Given the description of an element on the screen output the (x, y) to click on. 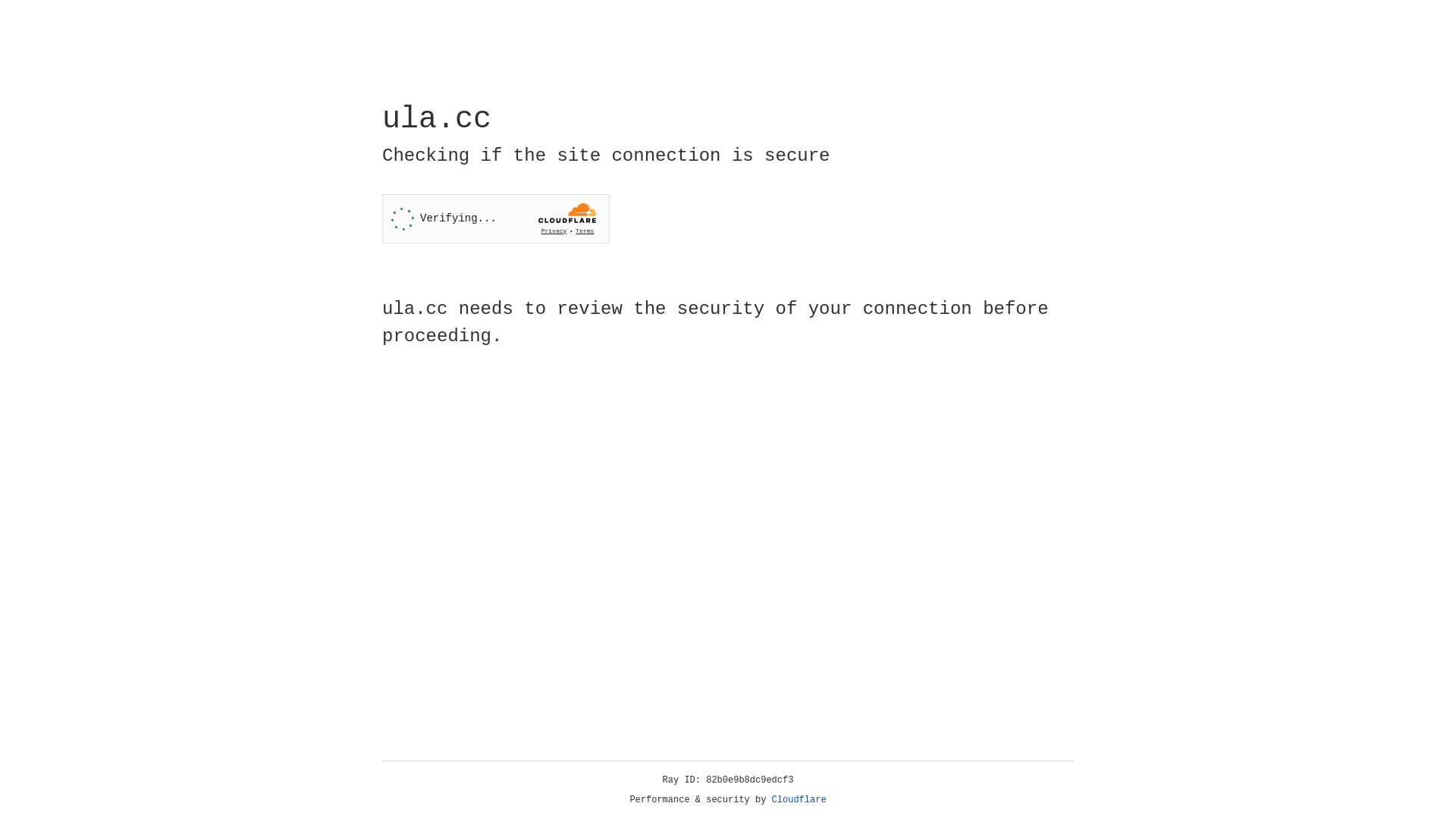
Widget containing a Cloudflare security challenge Element type: hover (495, 218)
Cloudflare Element type: text (798, 799)
